Given the description of an element on the screen output the (x, y) to click on. 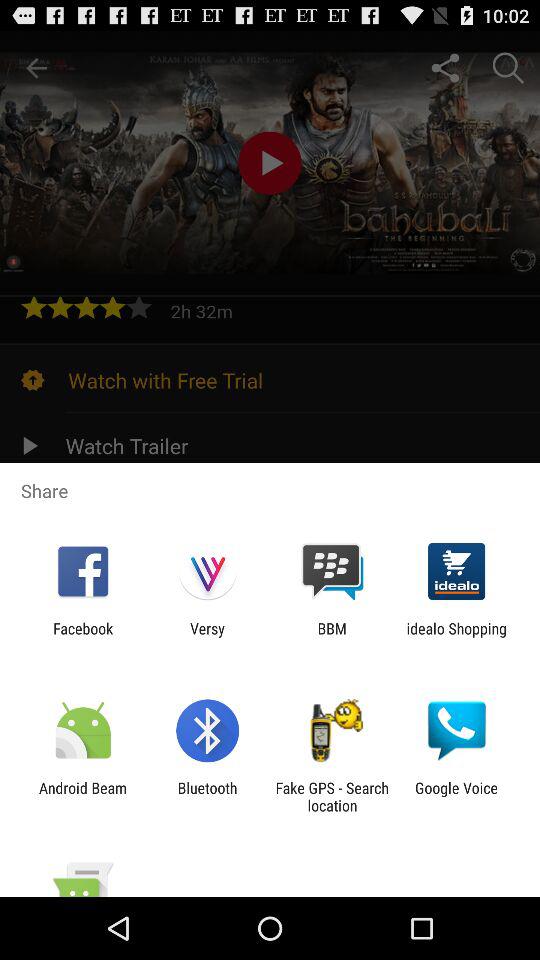
open the idealo shopping icon (456, 637)
